Given the description of an element on the screen output the (x, y) to click on. 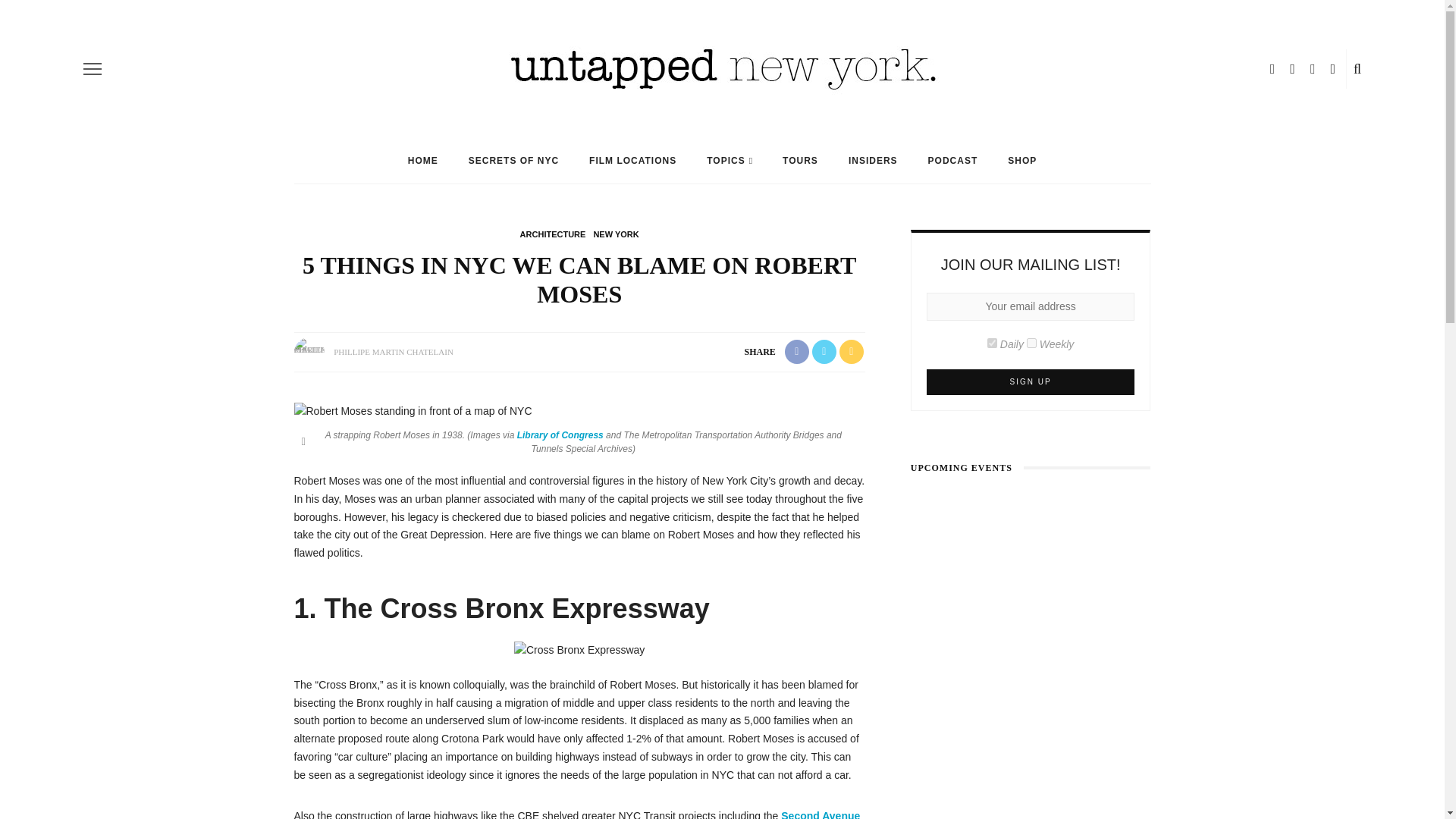
7cff6a70fd (1031, 343)
off canvas button (91, 68)
Sign up (1030, 381)
e99a09560c (992, 343)
